Given the description of an element on the screen output the (x, y) to click on. 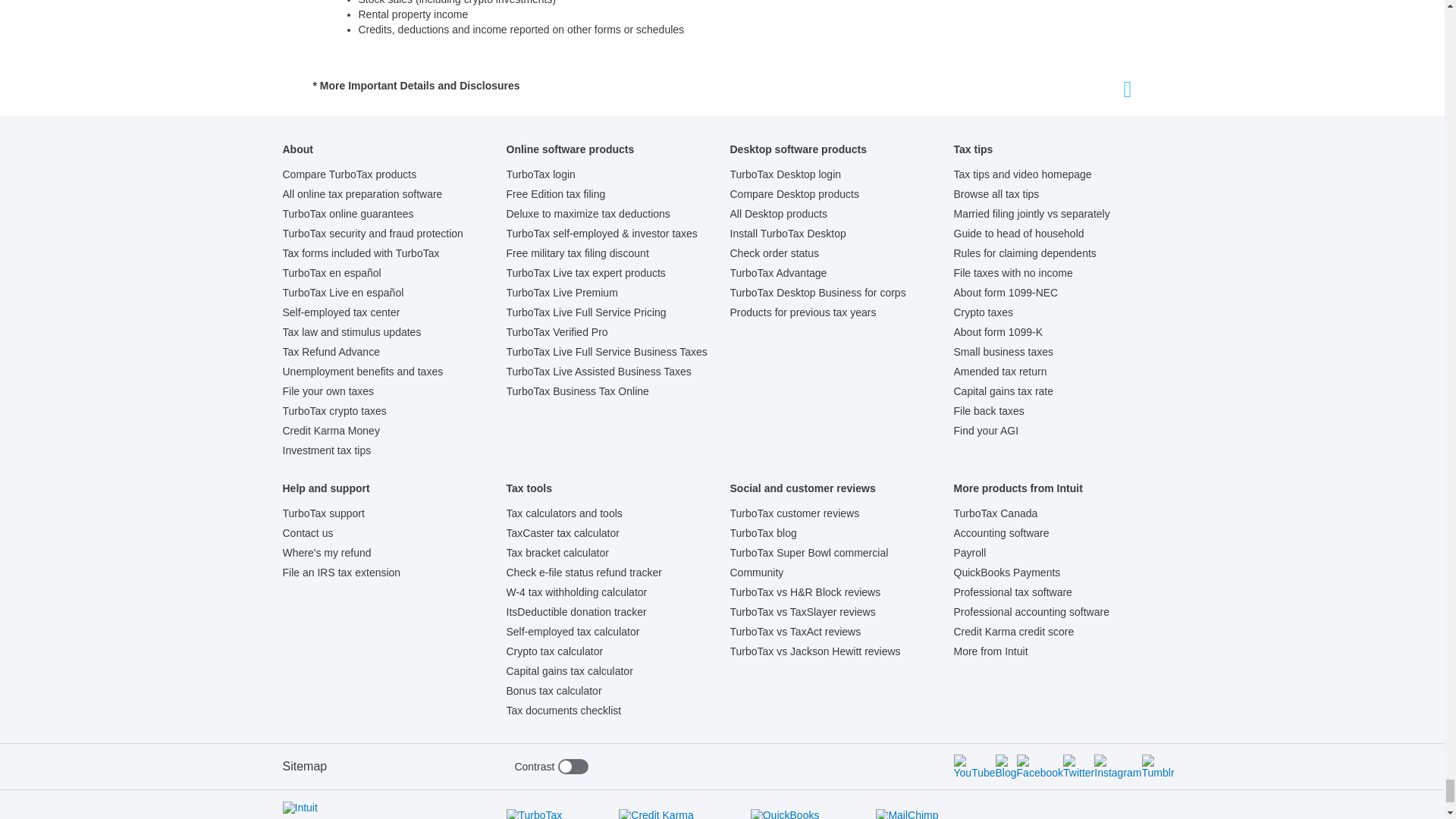
TurboTax crypto taxes (333, 410)
File your own taxes (328, 390)
Compare TurboTax products (349, 174)
TurboTax login (540, 174)
Free Edition tax filing (555, 193)
Tax Refund Advance (330, 351)
Unemployment benefits and taxes (362, 371)
Self-employed tax center (340, 312)
Credit Karma Money (330, 430)
Tax law and stimulus updates (351, 331)
TurboTax online guarantees (347, 214)
All online tax preparation software (362, 193)
Investment tax tips (326, 450)
TurboTax security and fraud protection (372, 233)
